Given the description of an element on the screen output the (x, y) to click on. 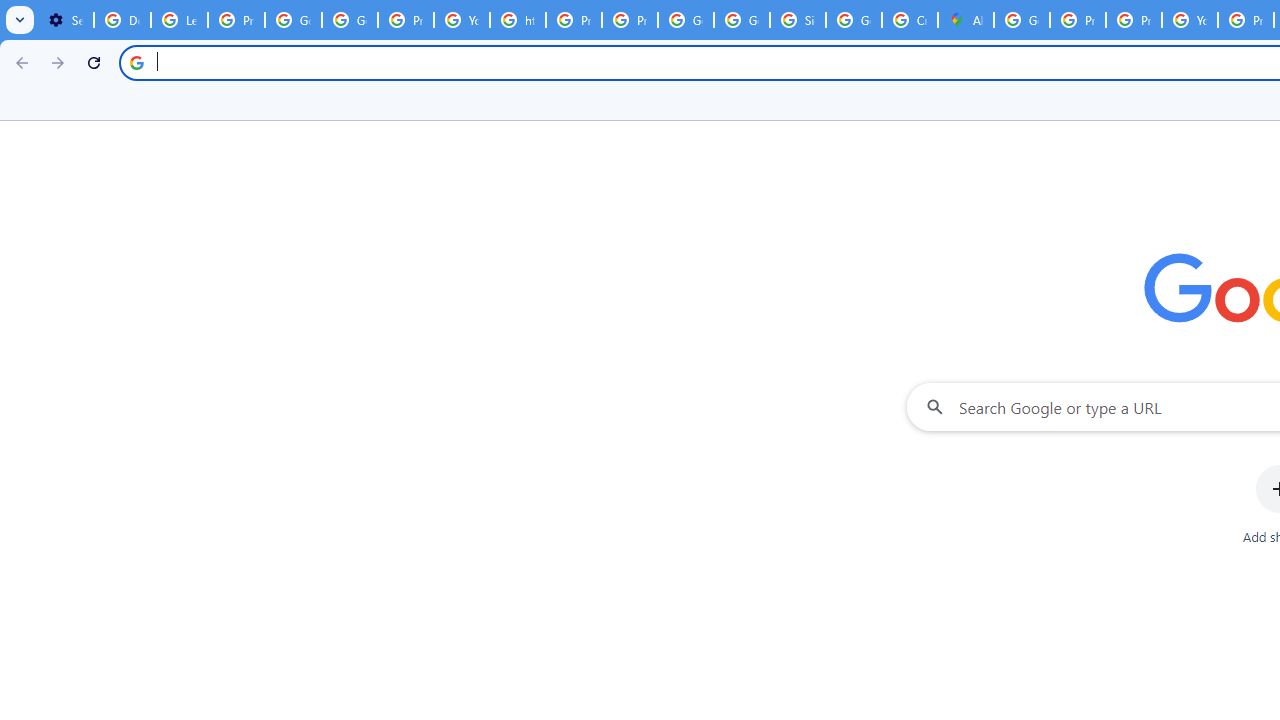
Google Account Help (293, 20)
Delete photos & videos - Computer - Google Photos Help (122, 20)
YouTube (1190, 20)
YouTube (461, 20)
Privacy Help Center - Policies Help (1133, 20)
Privacy Help Center - Policies Help (1077, 20)
Sign in - Google Accounts (797, 20)
